Given the description of an element on the screen output the (x, y) to click on. 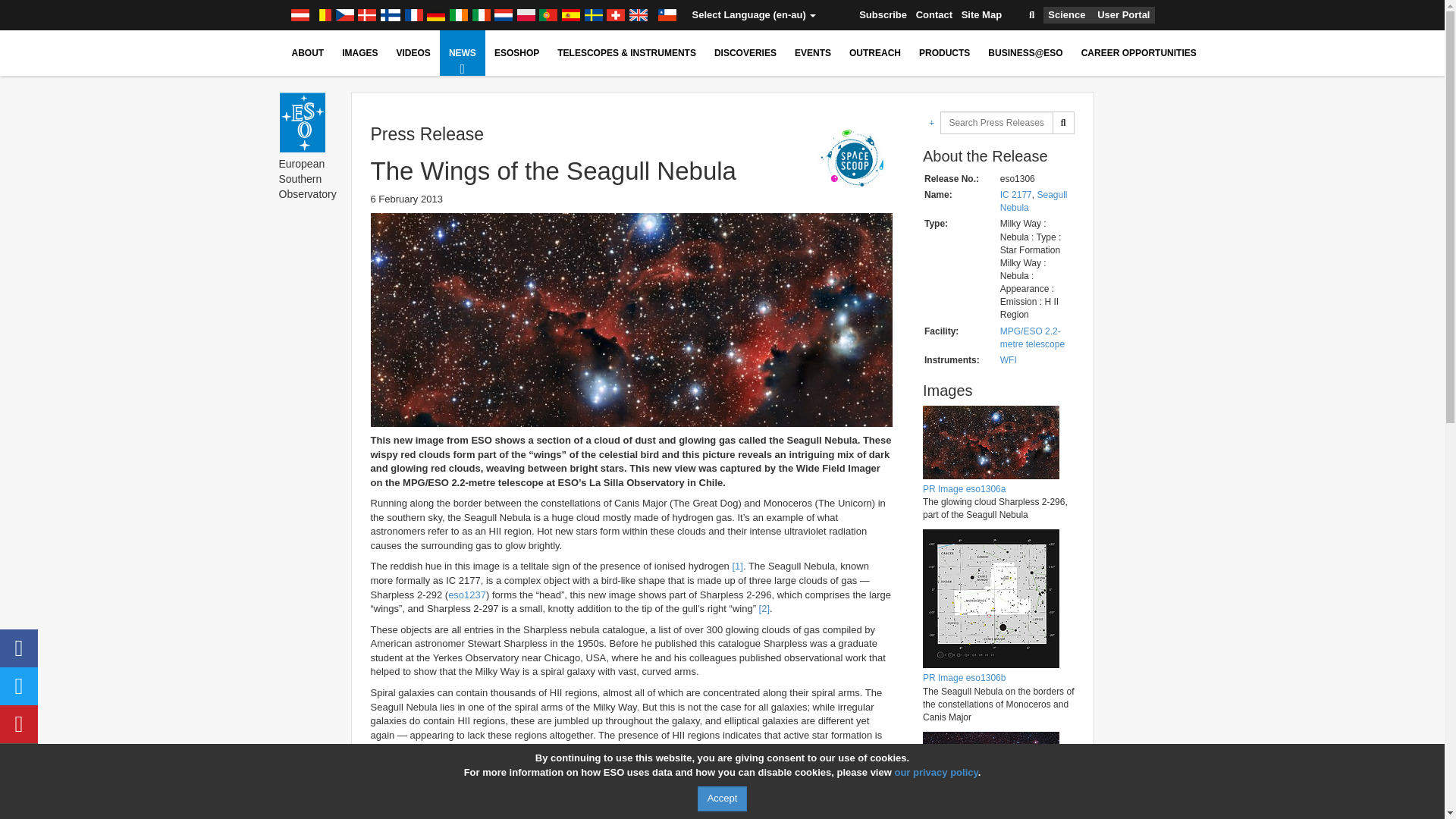
Spain (570, 15)
Austria (298, 15)
Netherlands (503, 15)
Site Map (981, 15)
Contact (933, 15)
Denmark (366, 15)
Sweden (593, 15)
Accept (722, 798)
User Portal (1123, 14)
Subscribe (883, 15)
Belgium (322, 15)
Germany (435, 15)
Finland (390, 15)
France (413, 15)
ABOUT (307, 53)
